Given the description of an element on the screen output the (x, y) to click on. 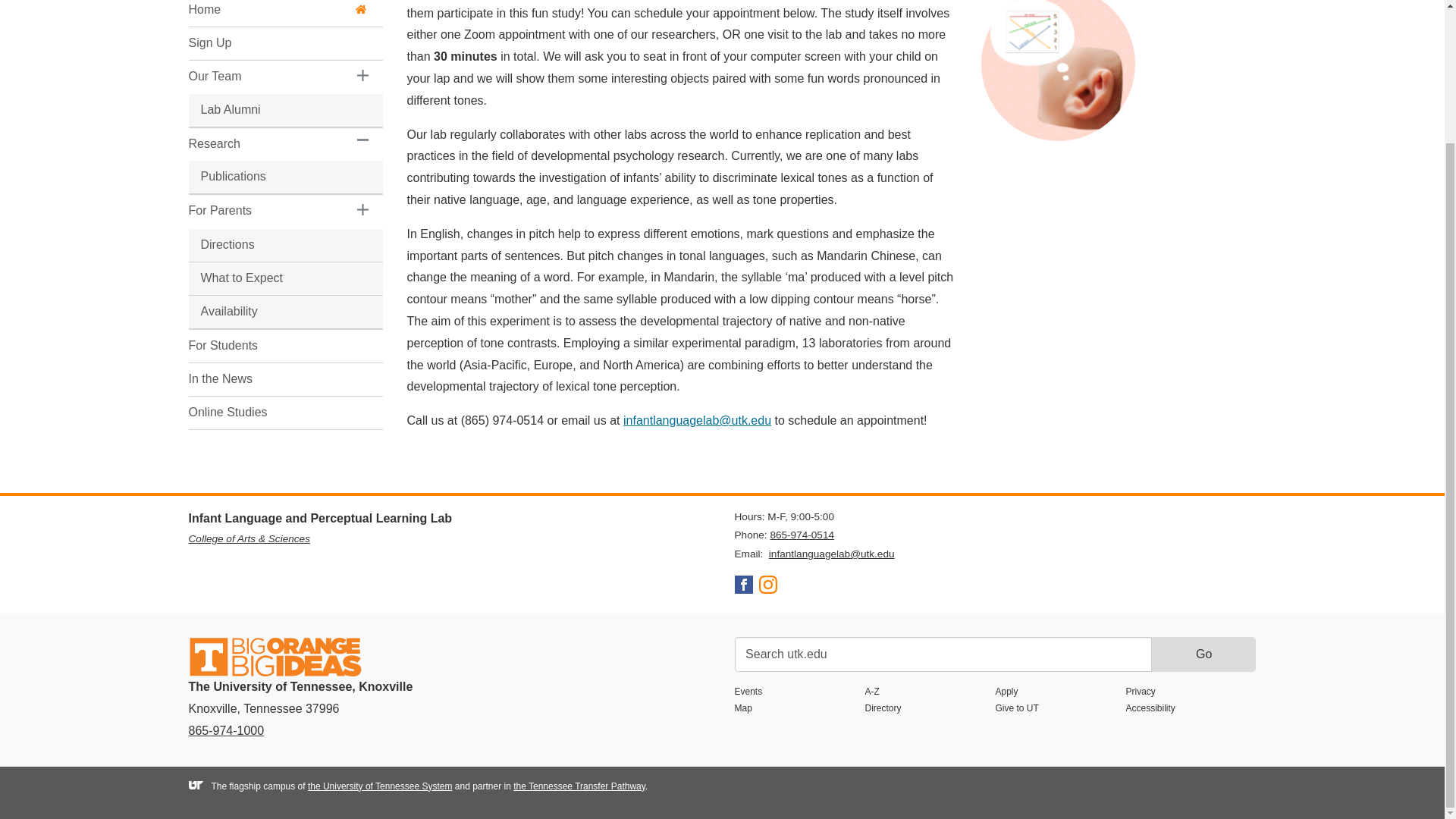
865-974-1000 (225, 730)
What to Expect (265, 278)
Go (1203, 654)
For Students (265, 346)
Our Team (265, 76)
865-974-0514 (802, 534)
Availability (265, 311)
Map (798, 709)
Instagram (767, 589)
Go (1203, 654)
